Given the description of an element on the screen output the (x, y) to click on. 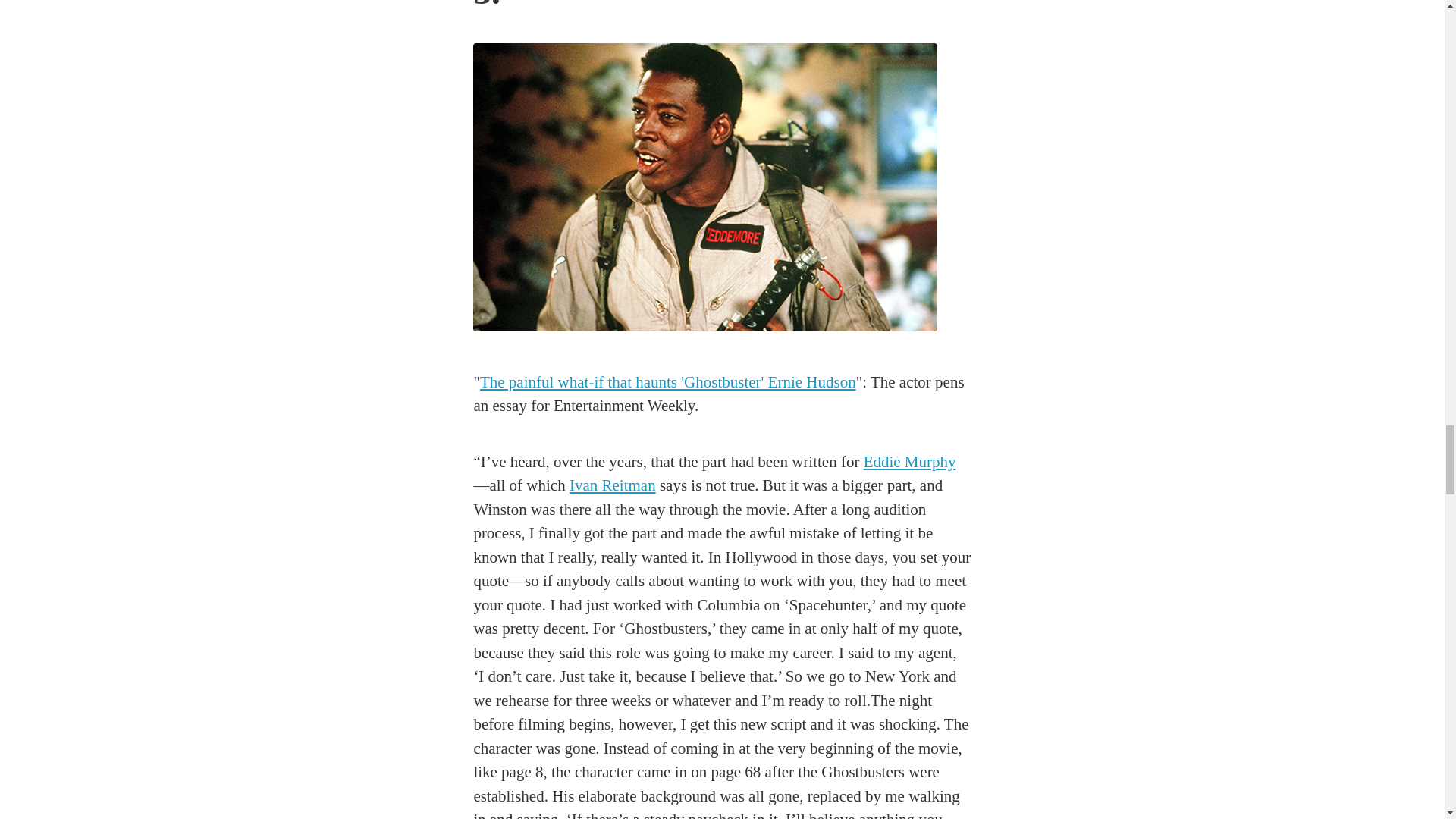
The painful what-if that haunts 'Ghostbuster' Ernie Hudson (668, 382)
Eddie Murphy (909, 461)
Ivan Reitman (612, 484)
